Given the description of an element on the screen output the (x, y) to click on. 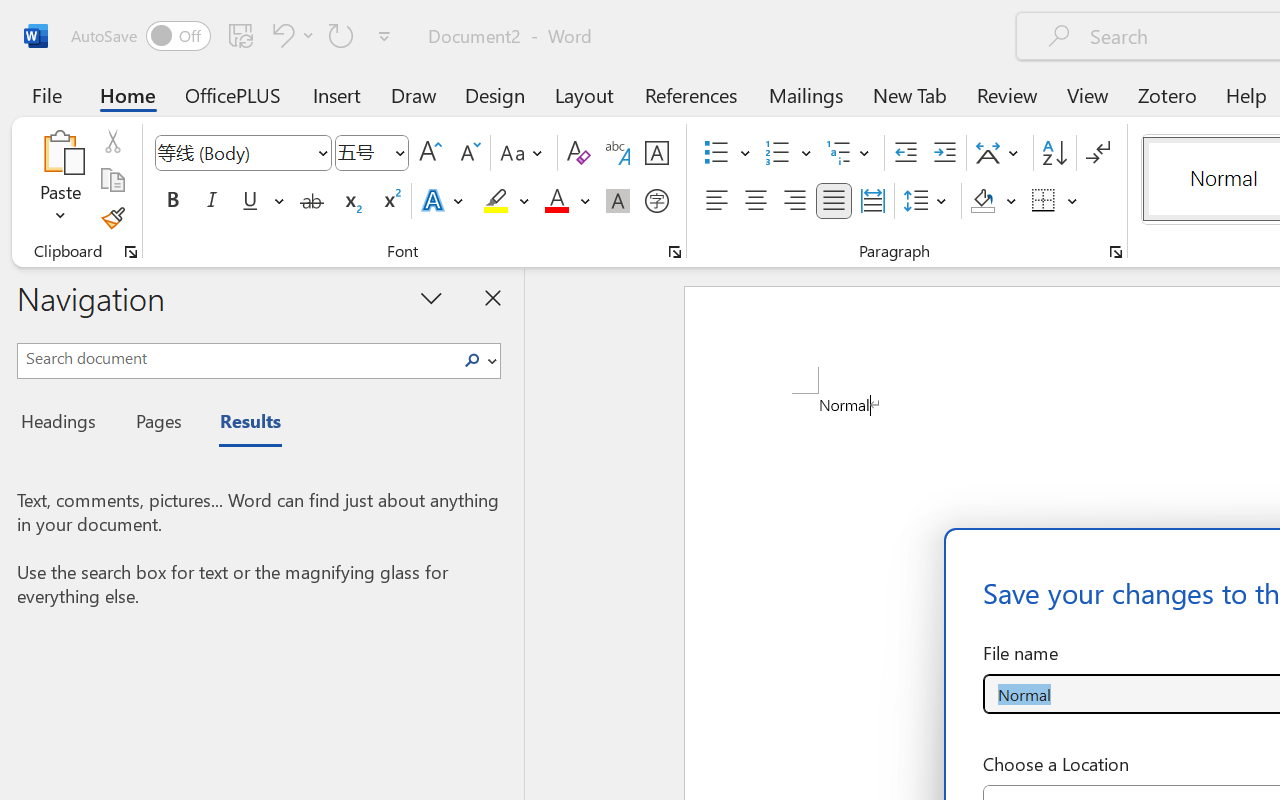
Open (399, 152)
Font Size (372, 153)
References (690, 94)
Clear Formatting (578, 153)
Paste (60, 179)
Save (241, 35)
Font (242, 153)
More Options (1073, 201)
Font... (675, 252)
Italic (212, 201)
Shading (993, 201)
Pages (156, 424)
View (1087, 94)
Draw (413, 94)
